Given the description of an element on the screen output the (x, y) to click on. 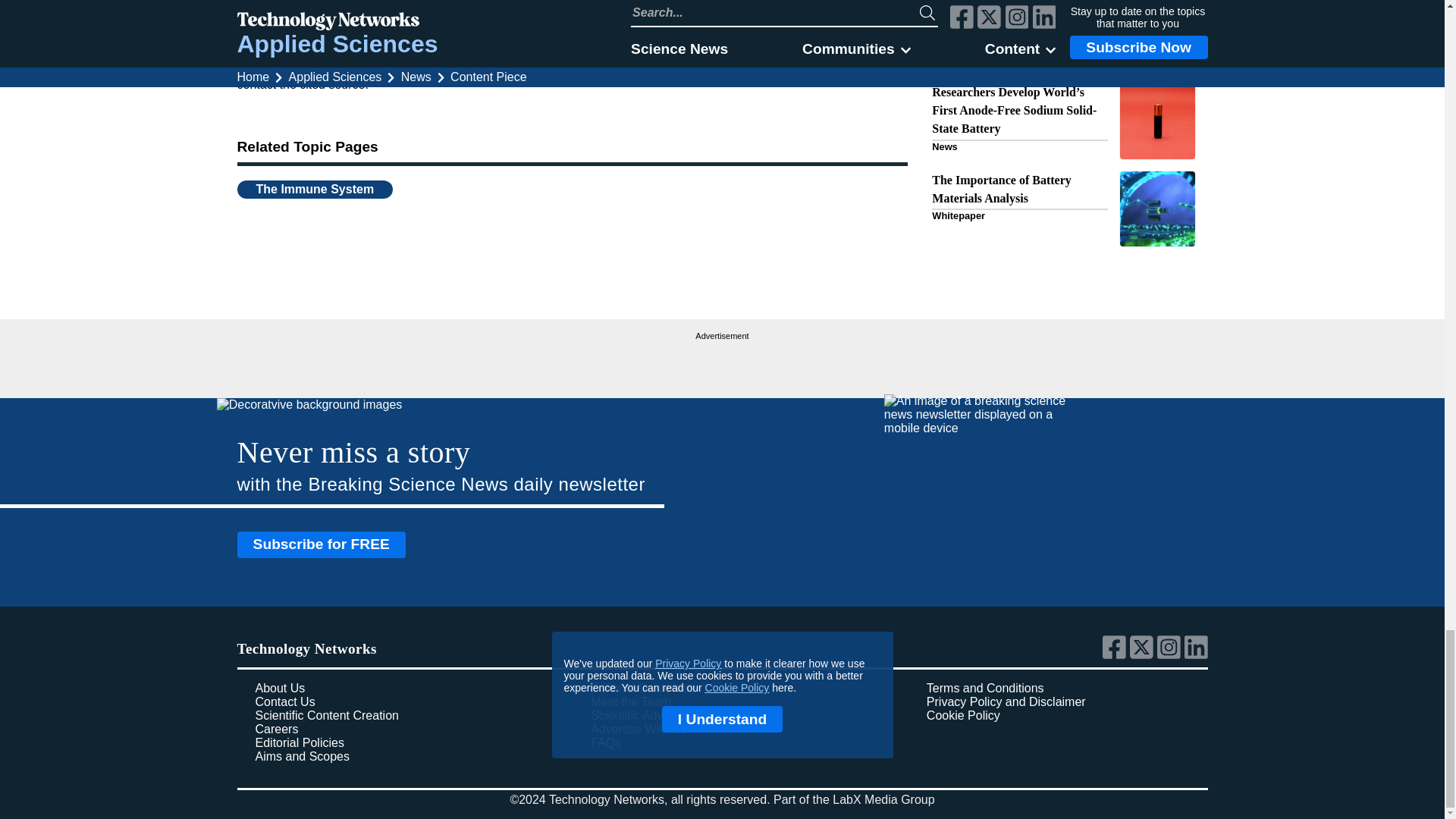
3rd party ad content (721, 362)
Link to Technology Networks' instagram page (1171, 655)
Link to Technology Networks' facebook page (1115, 655)
Link to Technology Networks' linkedin page (1196, 655)
Link to Technology Networks' twitter page (1143, 655)
